Given the description of an element on the screen output the (x, y) to click on. 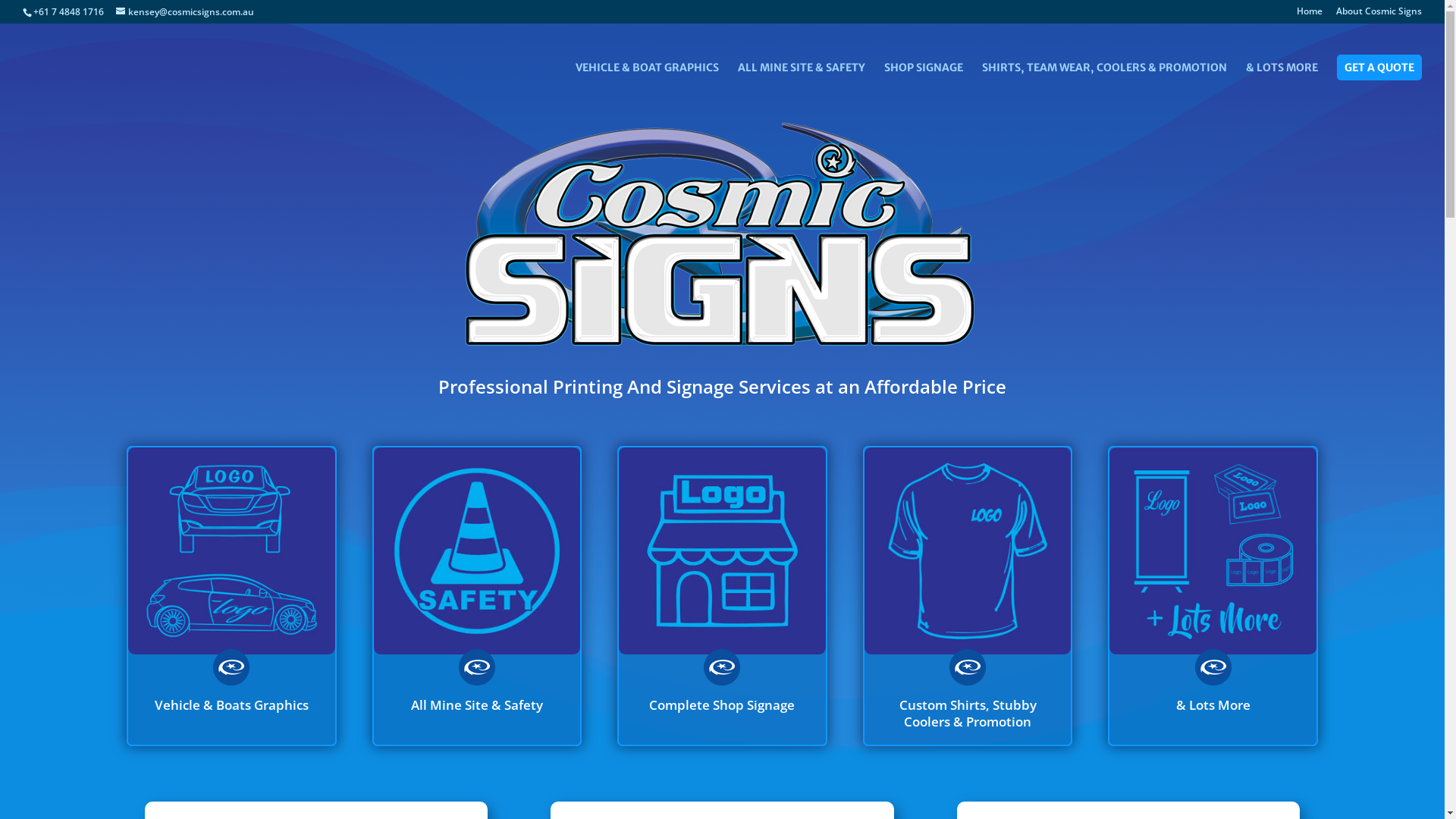
About Cosmic Signs Element type: text (1378, 14)
COSMIC-ICON-&-Lots-more Element type: hover (1212, 550)
& LOTS MORE Element type: text (1281, 74)
COSMIC-ICON-Shop-Signage Element type: hover (721, 550)
COSMIC-ICON-Custom-Shirts Element type: hover (967, 550)
COSMIC-ICON-Vehicle-&-Boat Element type: hover (231, 550)
GET A QUOTE Element type: text (1378, 67)
VEHICLE & BOAT GRAPHICS Element type: text (646, 74)
Home Element type: text (1309, 14)
COSMIC-ICON-Mine-Safety Element type: hover (476, 550)
ALL MINE SITE & SAFETY Element type: text (801, 74)
kensey@cosmicsigns.com.au Element type: text (185, 11)
SHIRTS, TEAM WEAR, COOLERS & PROMOTION Element type: text (1104, 74)
SHOP SIGNAGE Element type: text (923, 74)
